Given the description of an element on the screen output the (x, y) to click on. 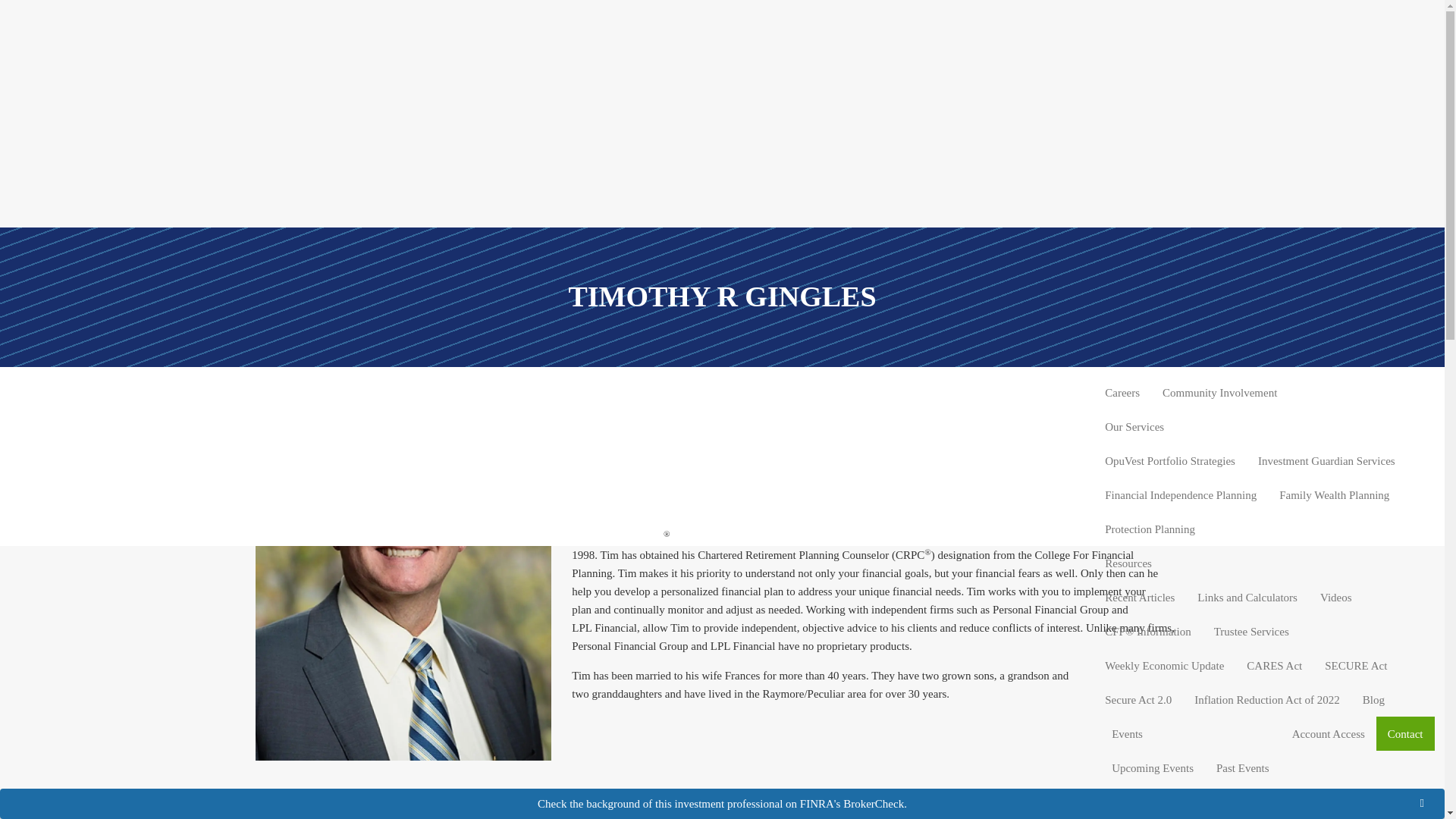
About Us (1263, 324)
Events (1190, 733)
Protection Planning (1150, 528)
Resources (1263, 562)
Our Team (1222, 358)
Our Services (1263, 426)
Financial Independence Planning (1180, 494)
Home (1409, 289)
Videos (1335, 596)
SECURE Act (1355, 665)
